Given the description of an element on the screen output the (x, y) to click on. 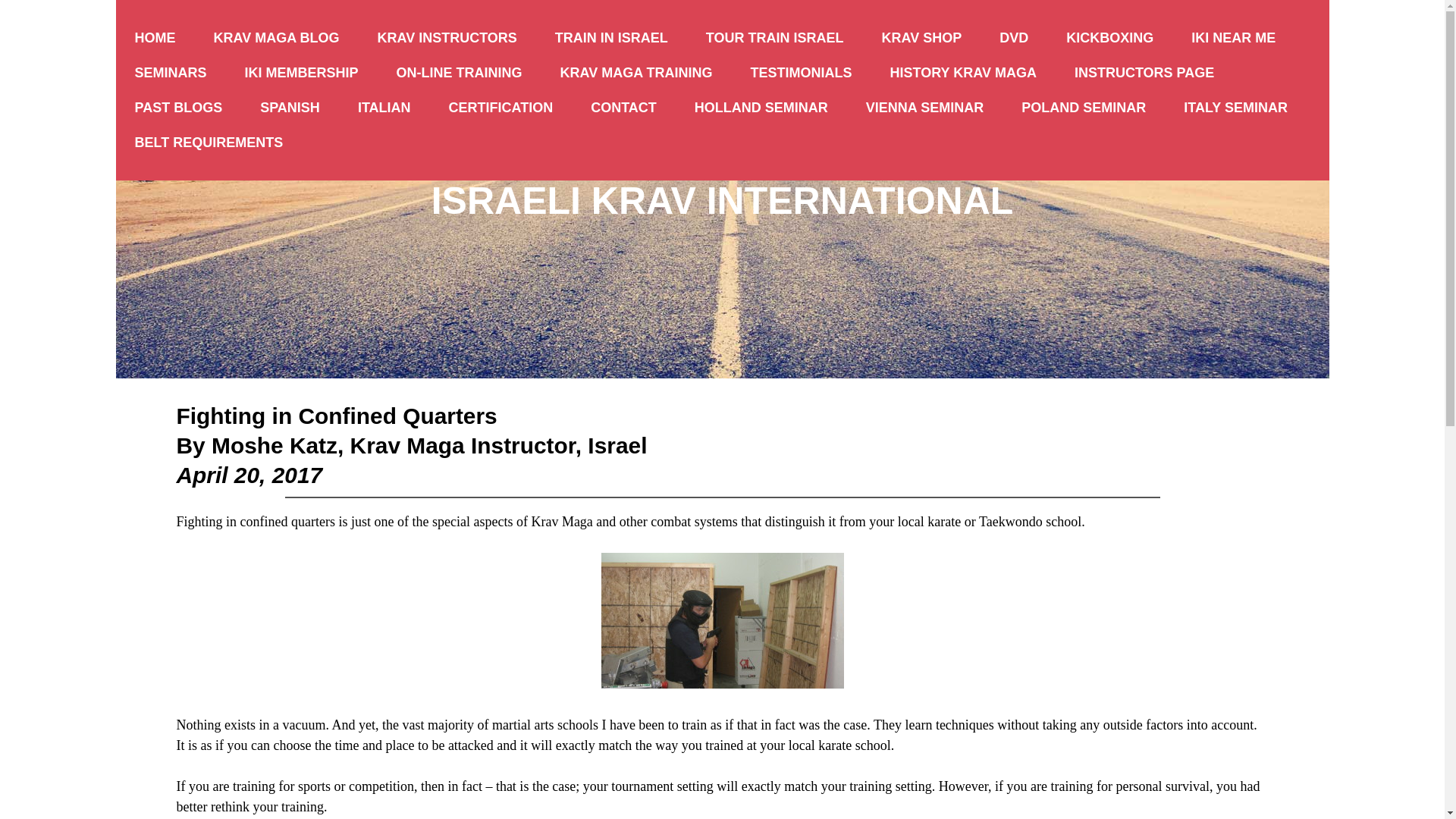
ITALY SEMINAR (1235, 107)
PAST BLOGS (178, 107)
POLAND SEMINAR (1083, 107)
ISRAELI KRAV INTERNATIONAL (721, 200)
HISTORY KRAV MAGA (962, 72)
DVD (1012, 37)
KRAV MAGA BLOG (275, 37)
TESTIMONIALS (801, 72)
ITALIAN (384, 107)
SPANISH (290, 107)
